Given the description of an element on the screen output the (x, y) to click on. 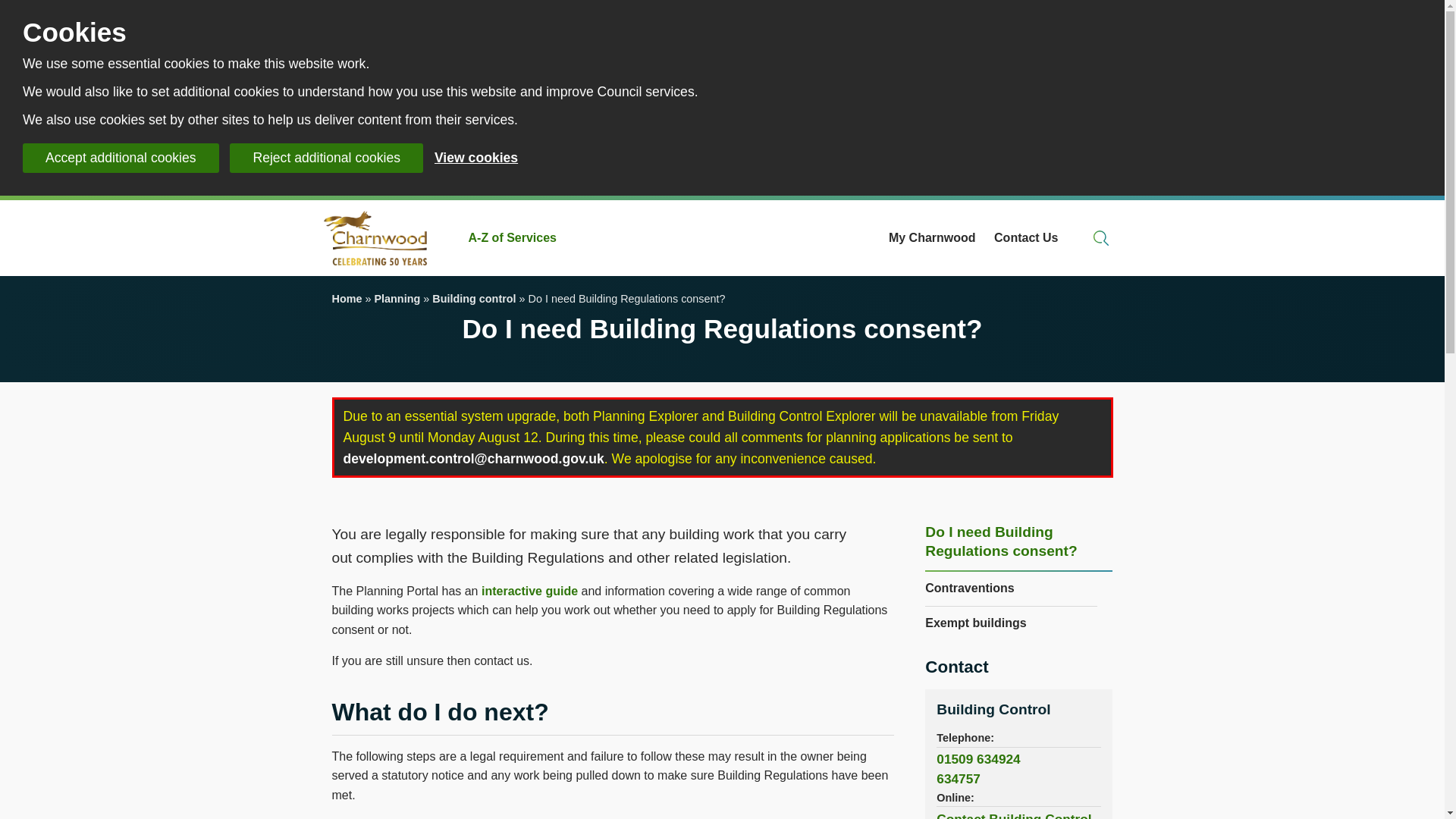
interactive guide (529, 590)
Charnwood Borough Council (380, 238)
Contact Us (1026, 238)
Search (1101, 238)
Reject additional cookies (326, 157)
Contact Building Control (992, 709)
Search (1101, 238)
Home (346, 298)
View cookies (475, 157)
Accept additional cookies (121, 157)
Planning (397, 298)
Building control (473, 298)
Search (1101, 238)
My Charnwood (931, 238)
A-Z of Services (512, 238)
